Given the description of an element on the screen output the (x, y) to click on. 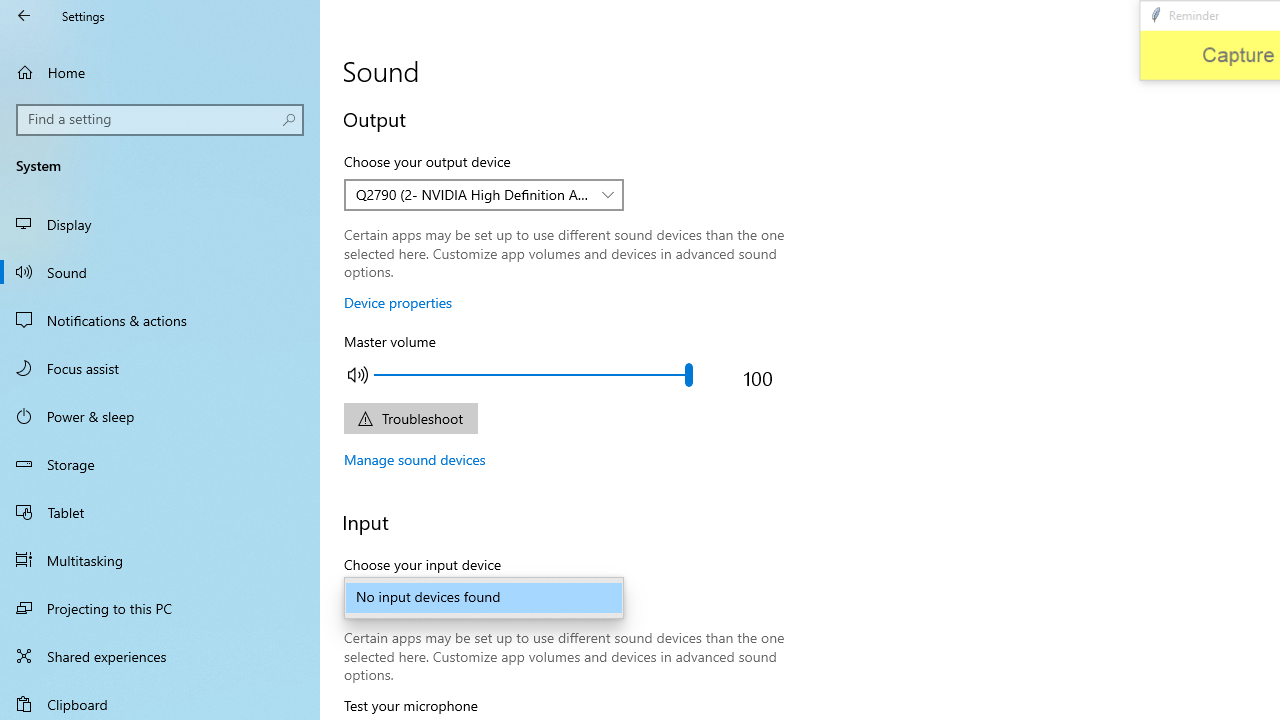
Multitasking (160, 559)
Power & sleep (160, 415)
Mute master volume (358, 374)
Projecting to this PC (160, 607)
Adjust the master output volume (532, 374)
Choose your input device (484, 597)
Storage (160, 463)
Device properties (397, 302)
Manage sound devices (415, 459)
Sound (160, 271)
Display (160, 223)
No input devices found (484, 597)
Notifications & actions (160, 319)
Output device troubleshoot (410, 418)
